Given the description of an element on the screen output the (x, y) to click on. 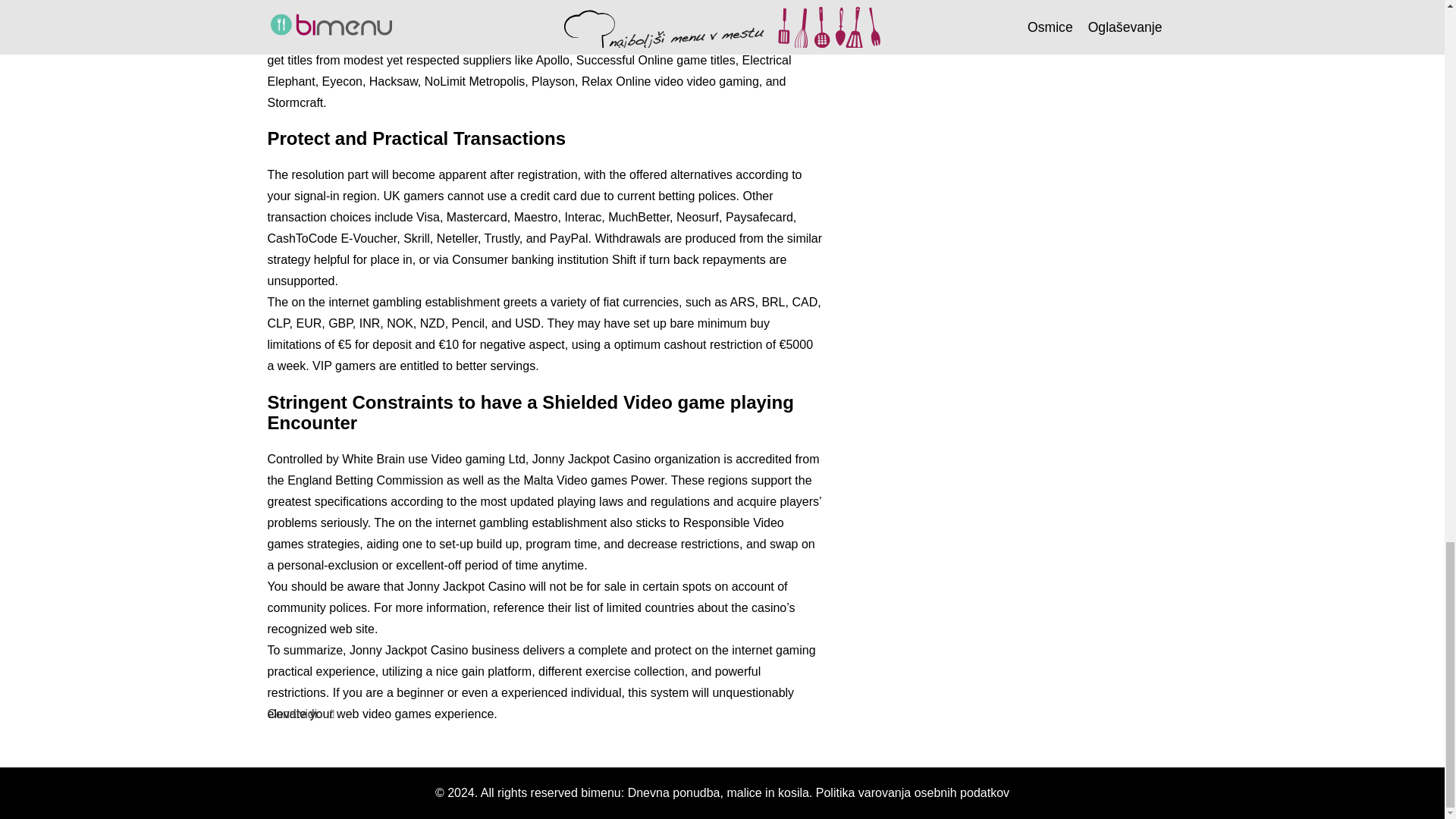
Politika varovanja osebnih podatkov (912, 792)
